Given the description of an element on the screen output the (x, y) to click on. 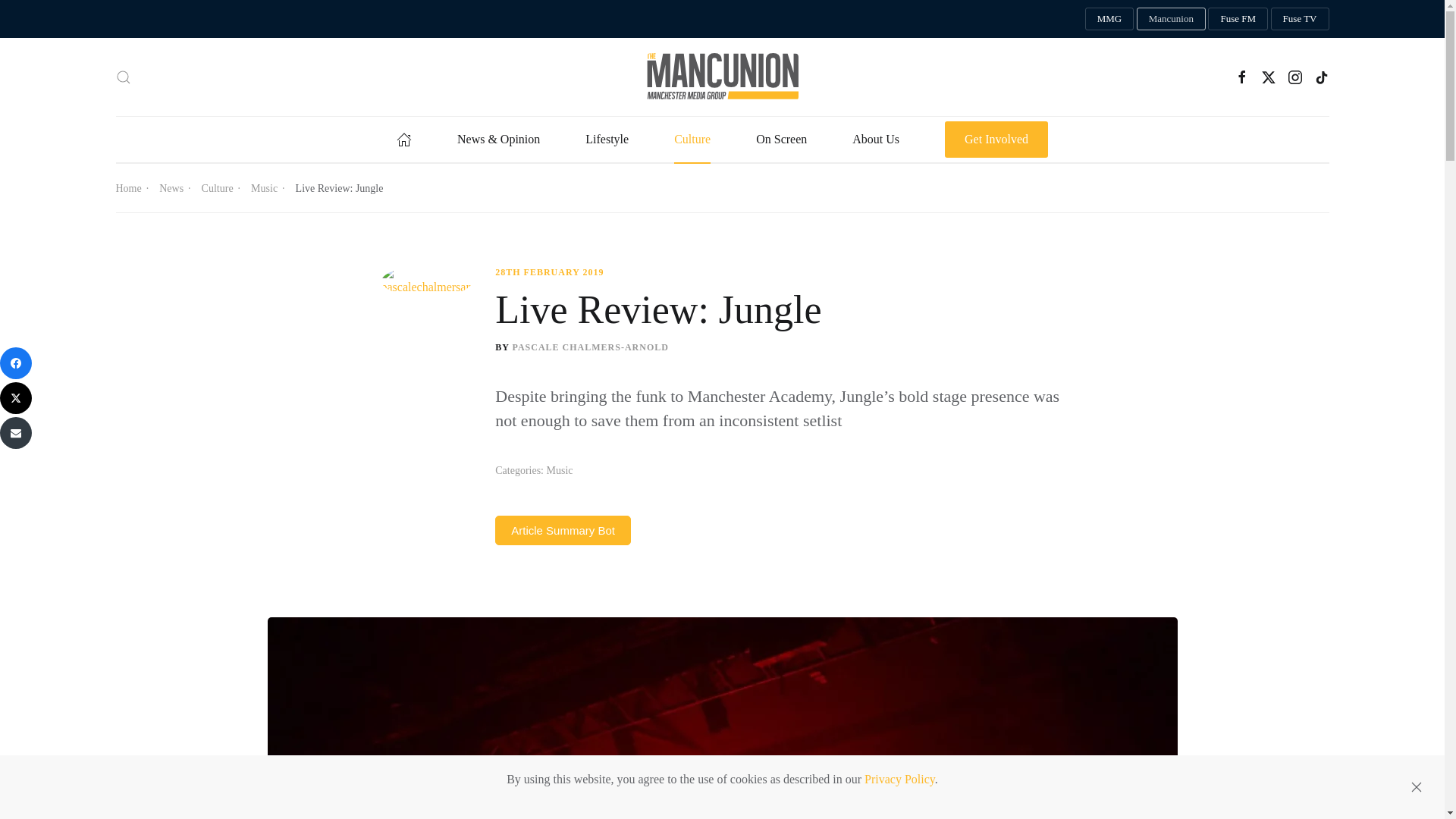
Mancunion (1171, 18)
Manchester Fuse FM (1238, 18)
Posts by PASCALE CHALMERS-ARNOLD (590, 347)
Manchester Media Group (1109, 18)
MMG (1109, 18)
Fuse TV (1300, 18)
Fuse FM (1238, 18)
Manchester University Mancunion Newspaper (1171, 18)
Manchester Fuse TV (1300, 18)
